Given the description of an element on the screen output the (x, y) to click on. 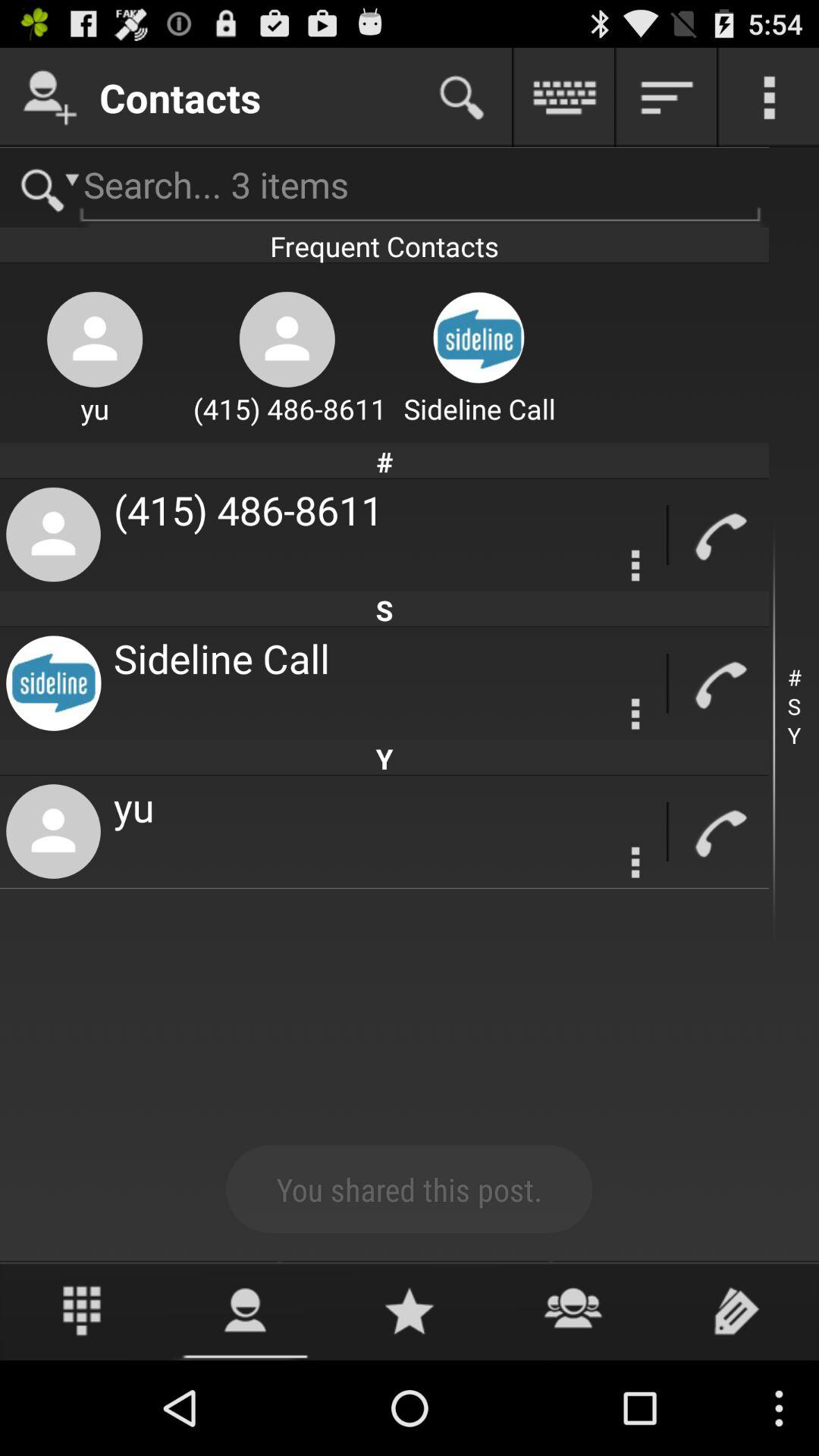
start the call (718, 683)
